Given the description of an element on the screen output the (x, y) to click on. 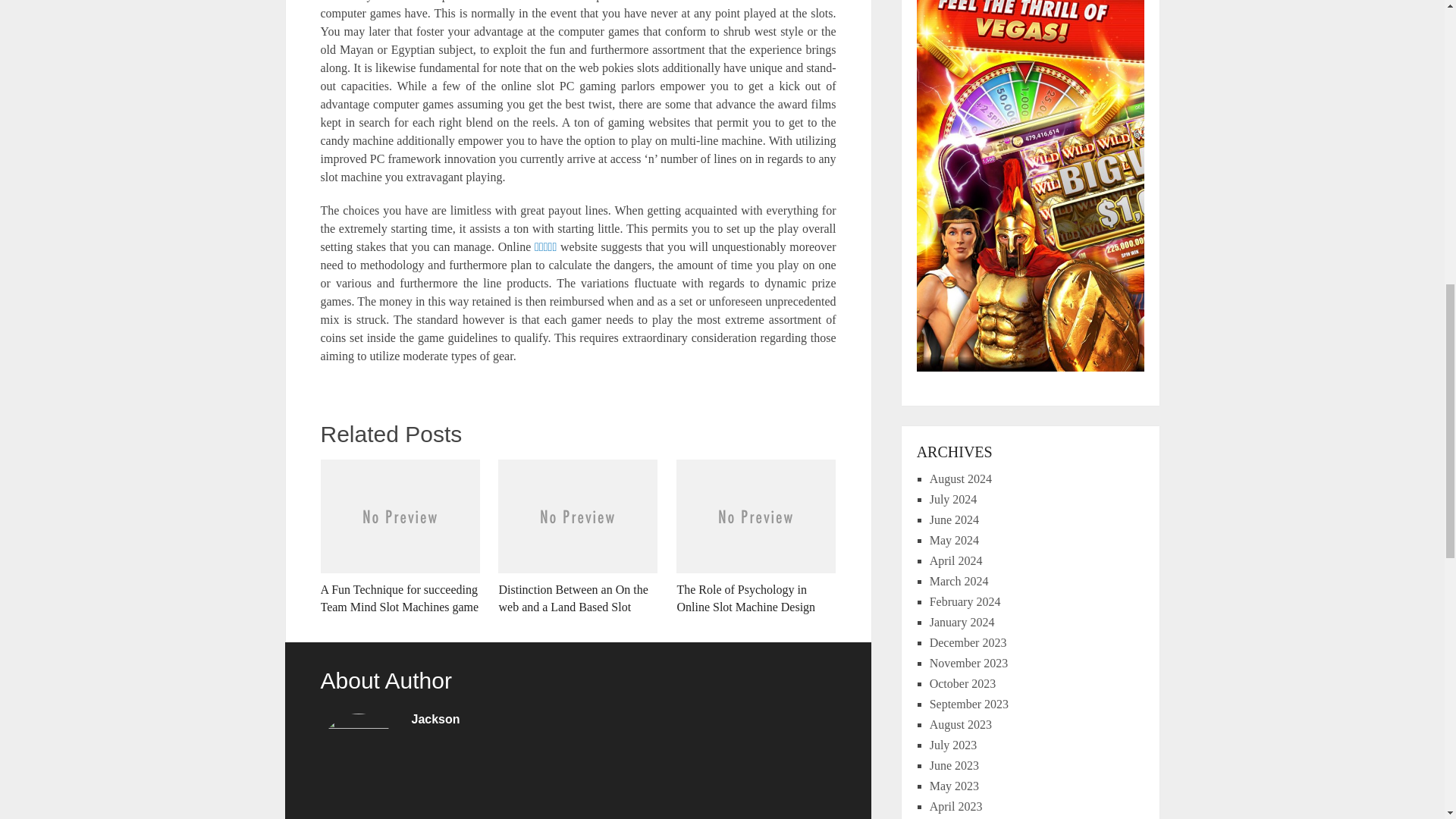
April 2024 (956, 560)
November 2023 (969, 662)
Distinction Between an On the web and a Land Based Slot (577, 537)
October 2023 (962, 683)
A Fun Technique for succeeding Team Mind Slot Machines game (399, 537)
August 2023 (960, 724)
December 2023 (968, 642)
September 2023 (969, 703)
August 2024 (960, 478)
The Role of Psychology in Online Slot Machine Design (756, 537)
